Given the description of an element on the screen output the (x, y) to click on. 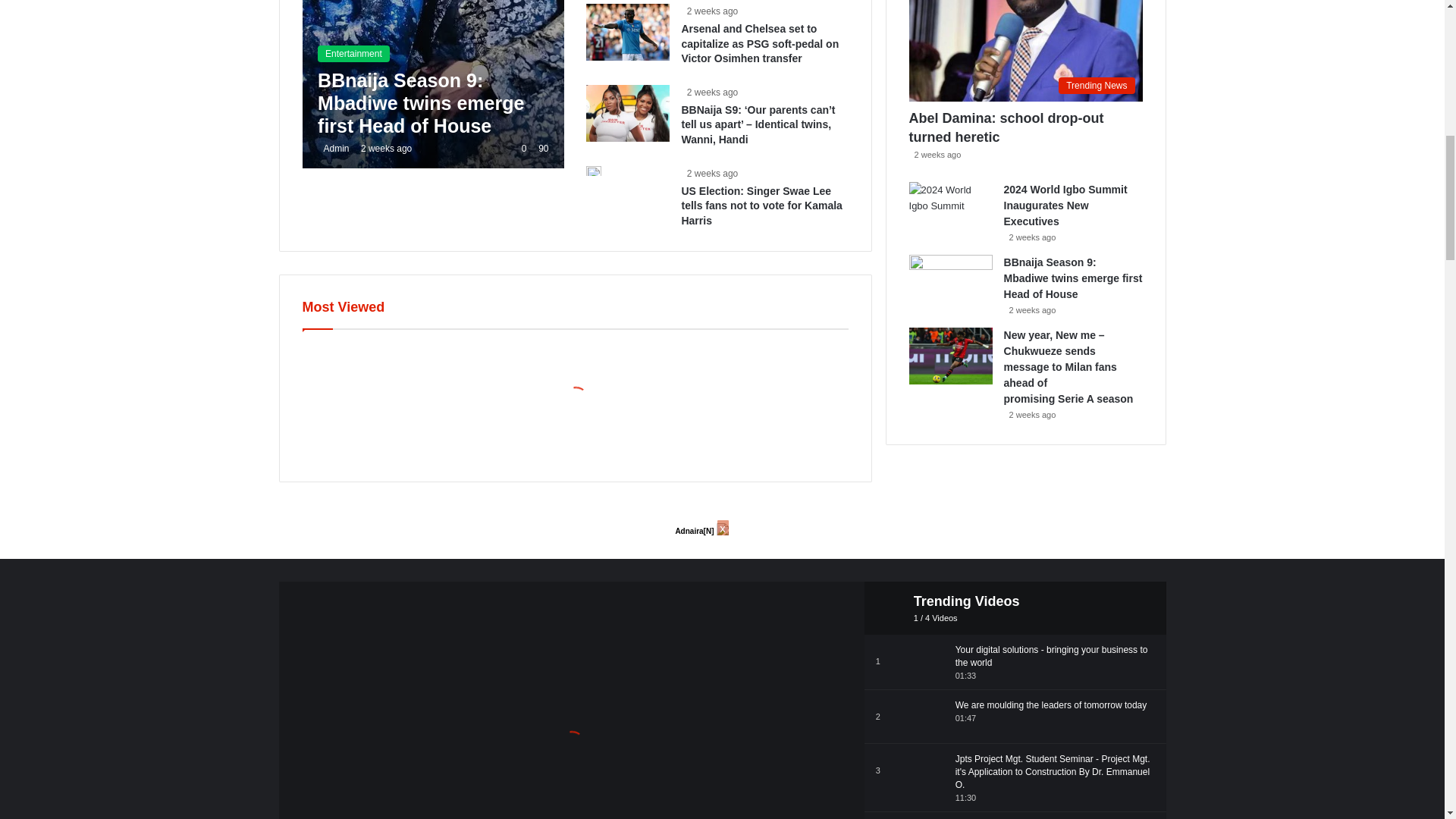
Most Viewed (575, 378)
Admin (333, 148)
